Given the description of an element on the screen output the (x, y) to click on. 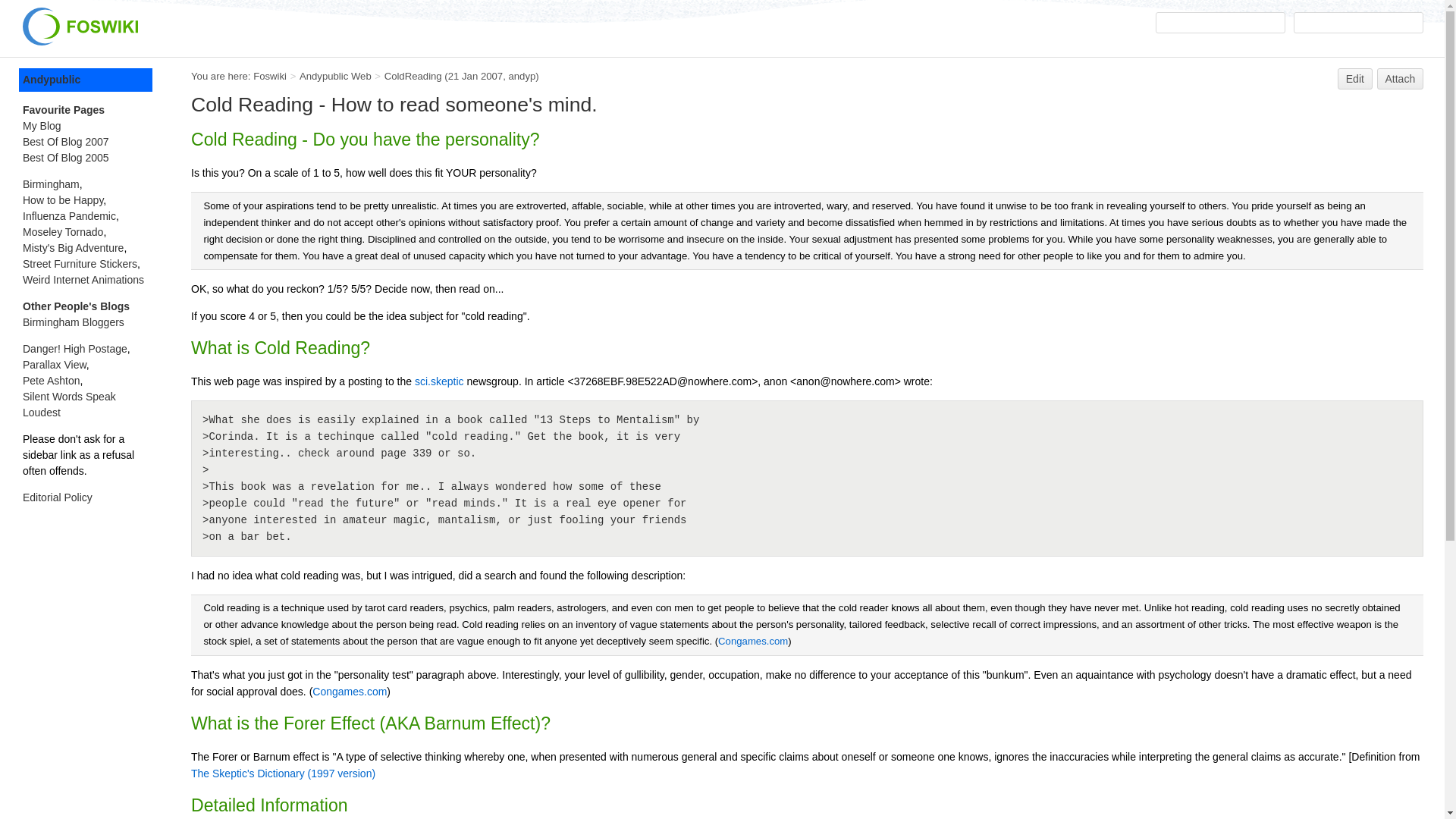
ColdReading (413, 75)
Best Of Blog 2005 (66, 157)
Foswiki (269, 75)
Best Of Blog 2007 (66, 141)
Edit this topic text (1355, 78)
Jump (1220, 22)
Congames.com (752, 641)
Andypublic Web (335, 75)
Birmingham (51, 184)
Search (1358, 22)
sci.skeptic (439, 381)
Attach an image or document to this topic (1400, 78)
Andypublic (85, 79)
My Blog (42, 125)
Attach (1400, 78)
